Given the description of an element on the screen output the (x, y) to click on. 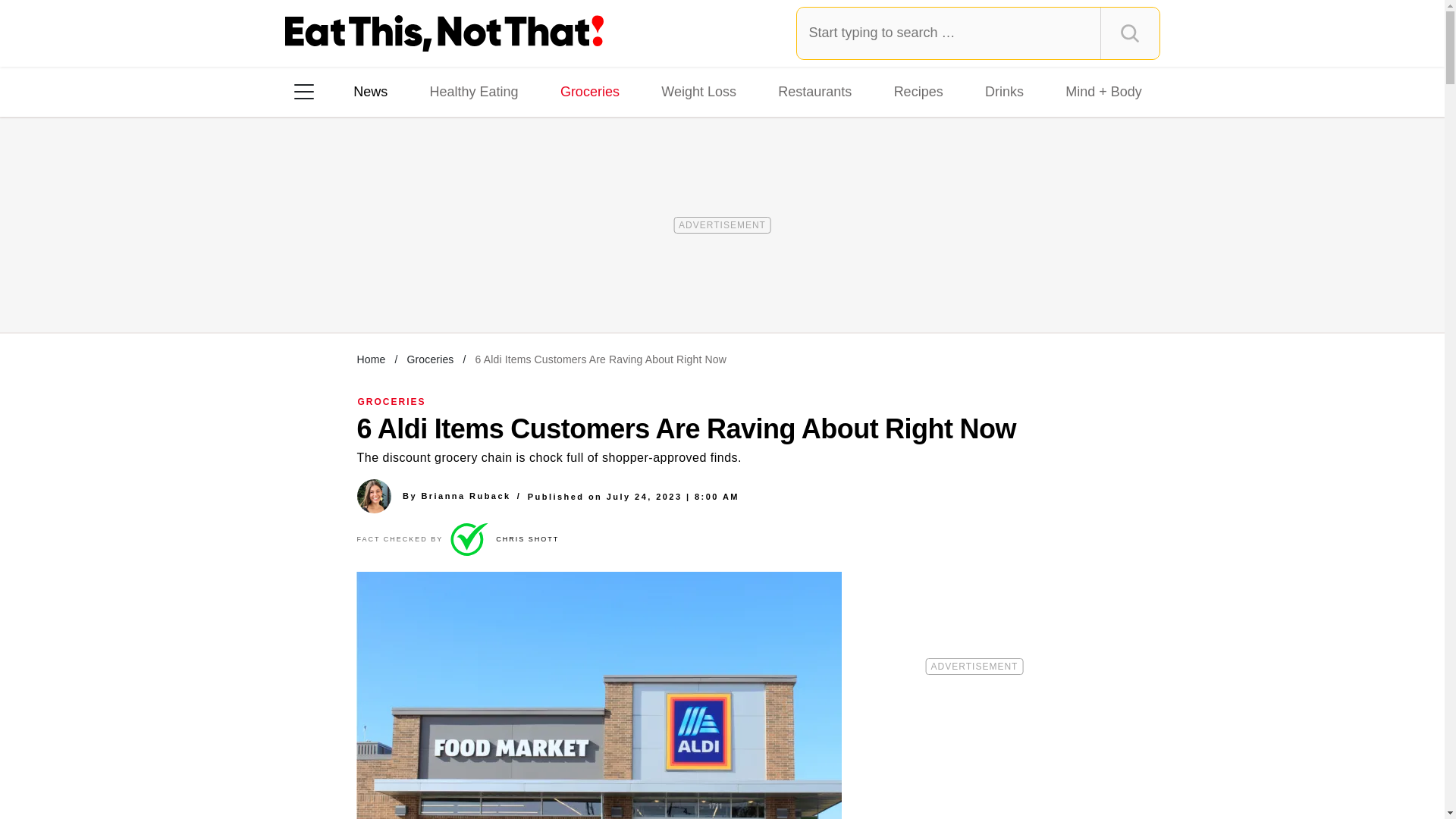
Instagram (357, 287)
Weight Loss (698, 91)
Facebook (314, 287)
Healthy Eating (473, 91)
Brianna Ruback (465, 495)
Restaurants (814, 91)
Recipes (918, 91)
News (370, 91)
Eat This Not That Homepage (444, 33)
Pinterest (443, 287)
Instagram (357, 287)
Groceries (590, 91)
Drinks (1003, 91)
TikTok (399, 287)
Pinterest (443, 287)
